Given the description of an element on the screen output the (x, y) to click on. 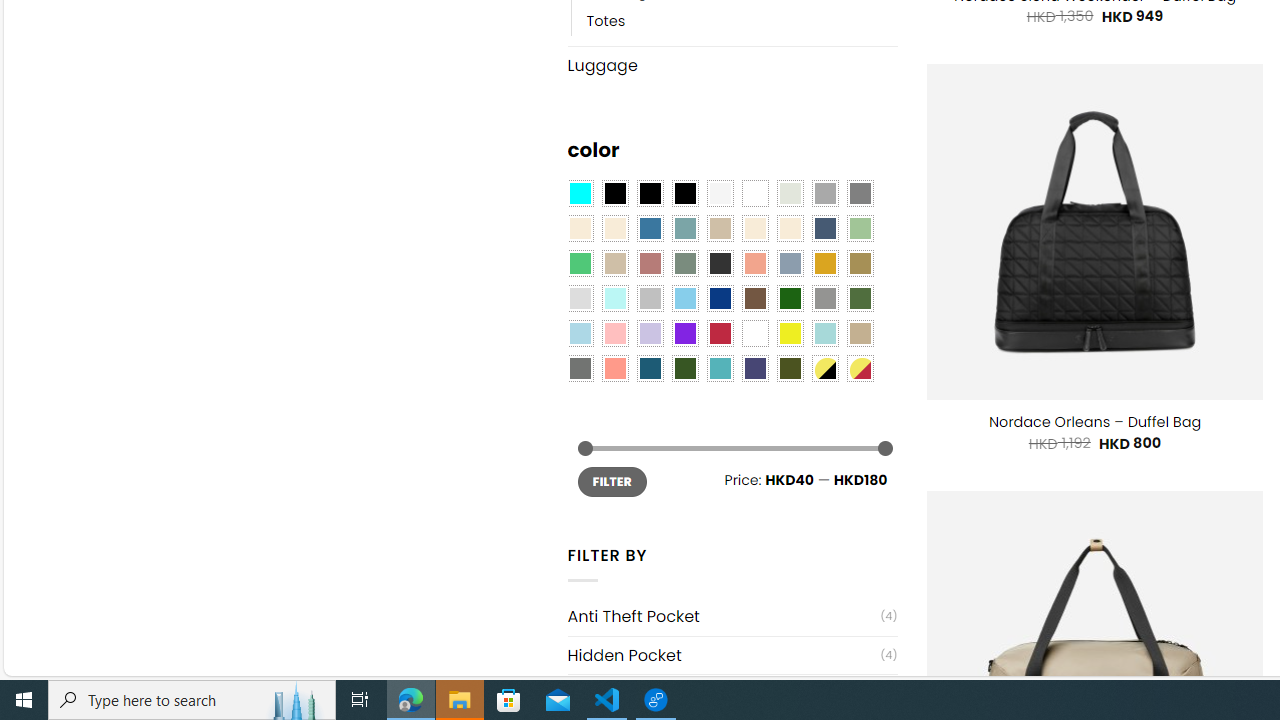
Yellow-Black (824, 368)
Anti Theft Pocket(4) (732, 616)
Blue (650, 228)
Charcoal (719, 264)
Teal (719, 368)
Dusty Blue (789, 264)
Hidden Pocket(4) (732, 655)
Cream (789, 228)
Army Green (789, 368)
Emerald Green (579, 264)
Light Taupe (614, 264)
Laptop Sleeve (723, 694)
Dull Nickle (579, 368)
Brown (755, 298)
Aqua (824, 334)
